Given the description of an element on the screen output the (x, y) to click on. 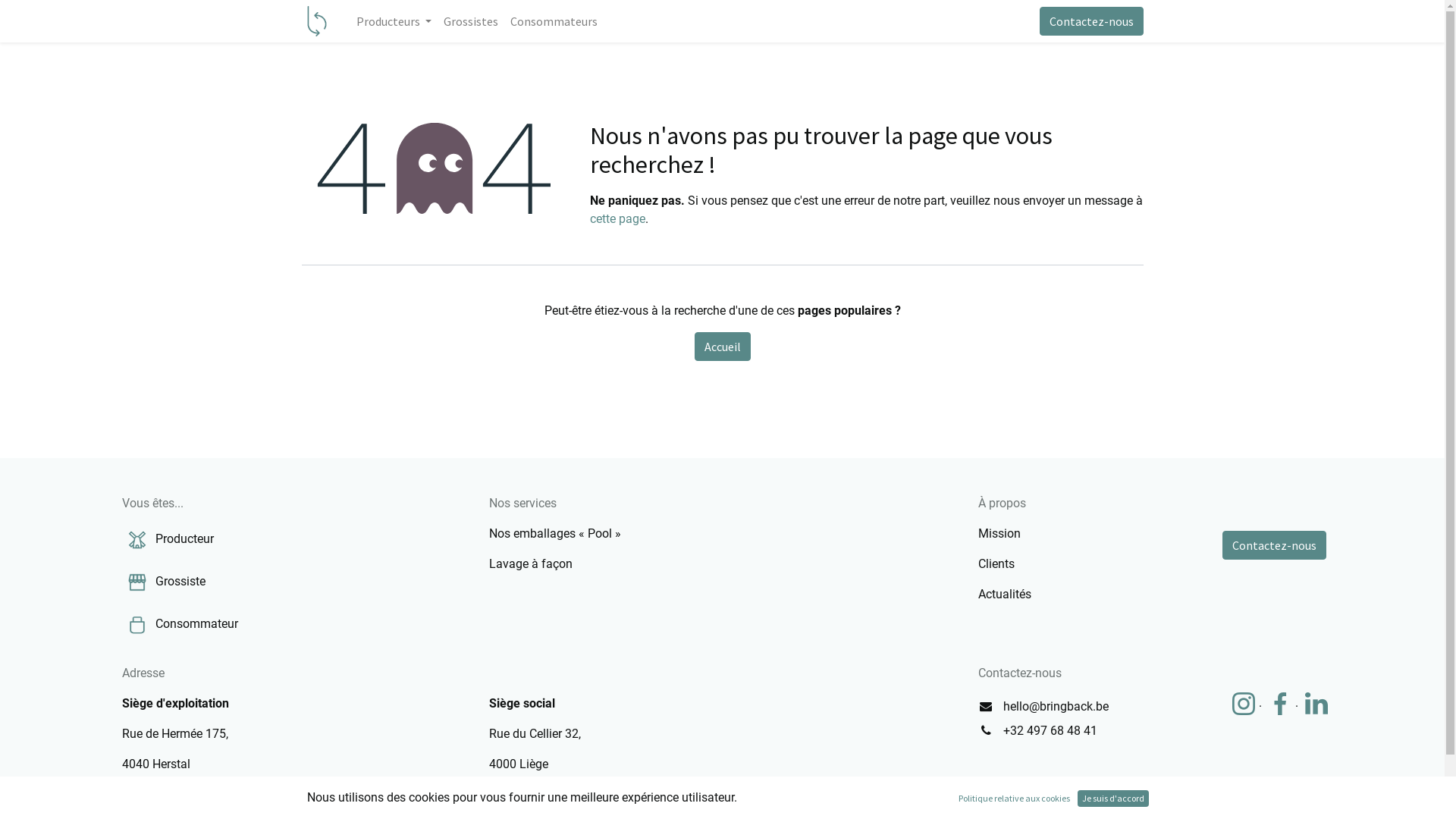
Contactez-nous Element type: text (1090, 20)
Je suis d'accord Element type: text (1112, 798)
Consommateur Element type: text (196, 623)
Grossiste Element type: text (180, 581)
Producteur Element type: text (184, 538)
cette page Element type: text (617, 218)
Contactez-nous Element type: text (1274, 544)
Politique relative aux cookies Element type: text (1013, 798)
Bring Back Element type: hover (316, 21)
Accueil Element type: text (722, 346)
Grossistes Element type: text (470, 21)
+32 497 68 48 41 Element type: text (1050, 730)
Consommateurs Element type: text (553, 21)
Producteurs Element type: text (393, 21)
hello@bringback.be Element type: text (1055, 706)
